Given the description of an element on the screen output the (x, y) to click on. 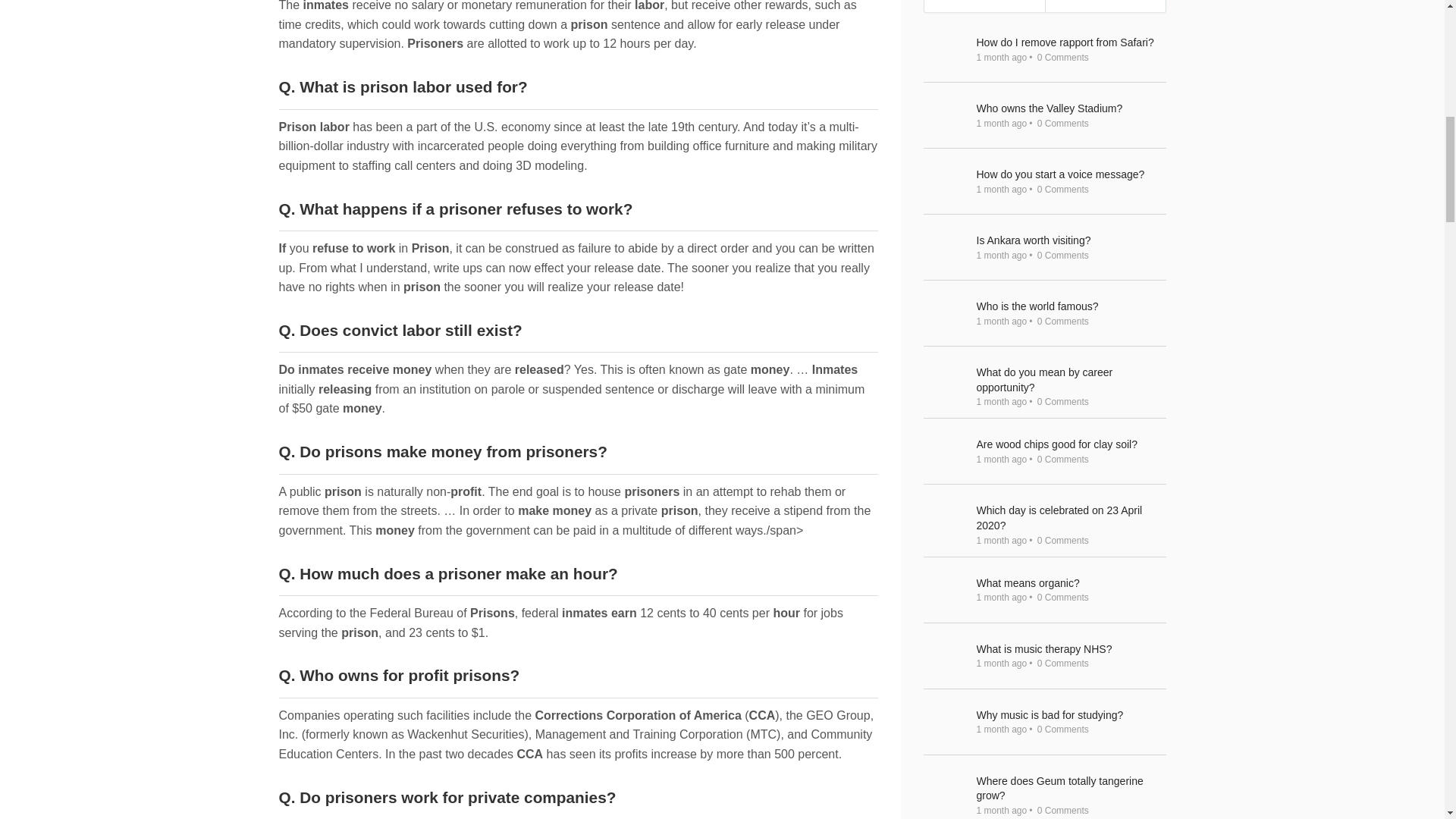
Who owns the Valley Stadium? (1071, 109)
Is Ankara worth visiting? (1071, 240)
Which day is celebrated on 23 April 2020? (1071, 518)
How do I remove rapport from Safari? (1071, 43)
What do you mean by career opportunity? (1071, 379)
Who is the world famous? (1071, 306)
How do you start a voice message? (1071, 174)
Are wood chips good for clay soil? (1071, 444)
